Given the description of an element on the screen output the (x, y) to click on. 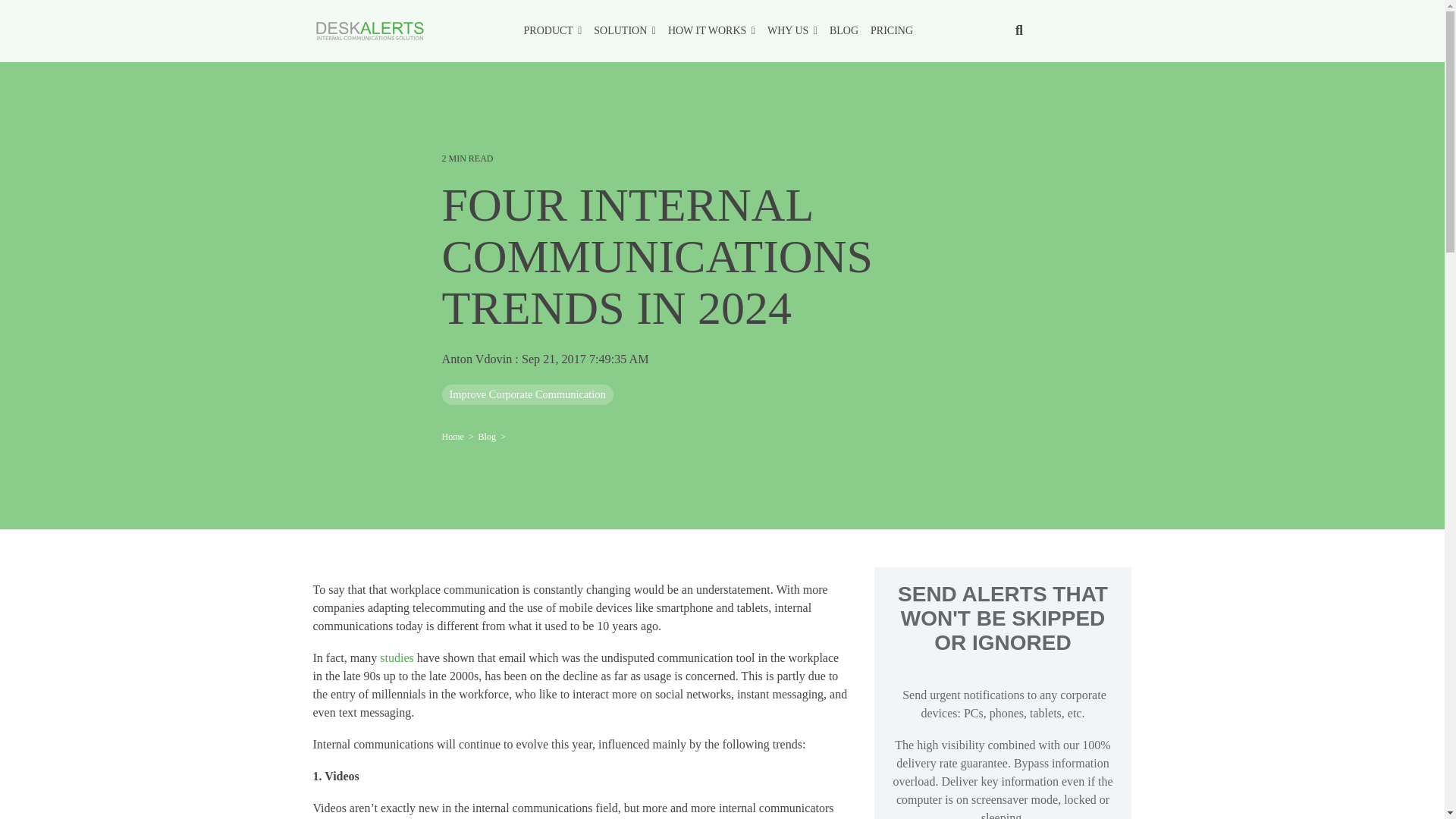
PRODUCT (553, 30)
SOLUTION (625, 30)
